Given the description of an element on the screen output the (x, y) to click on. 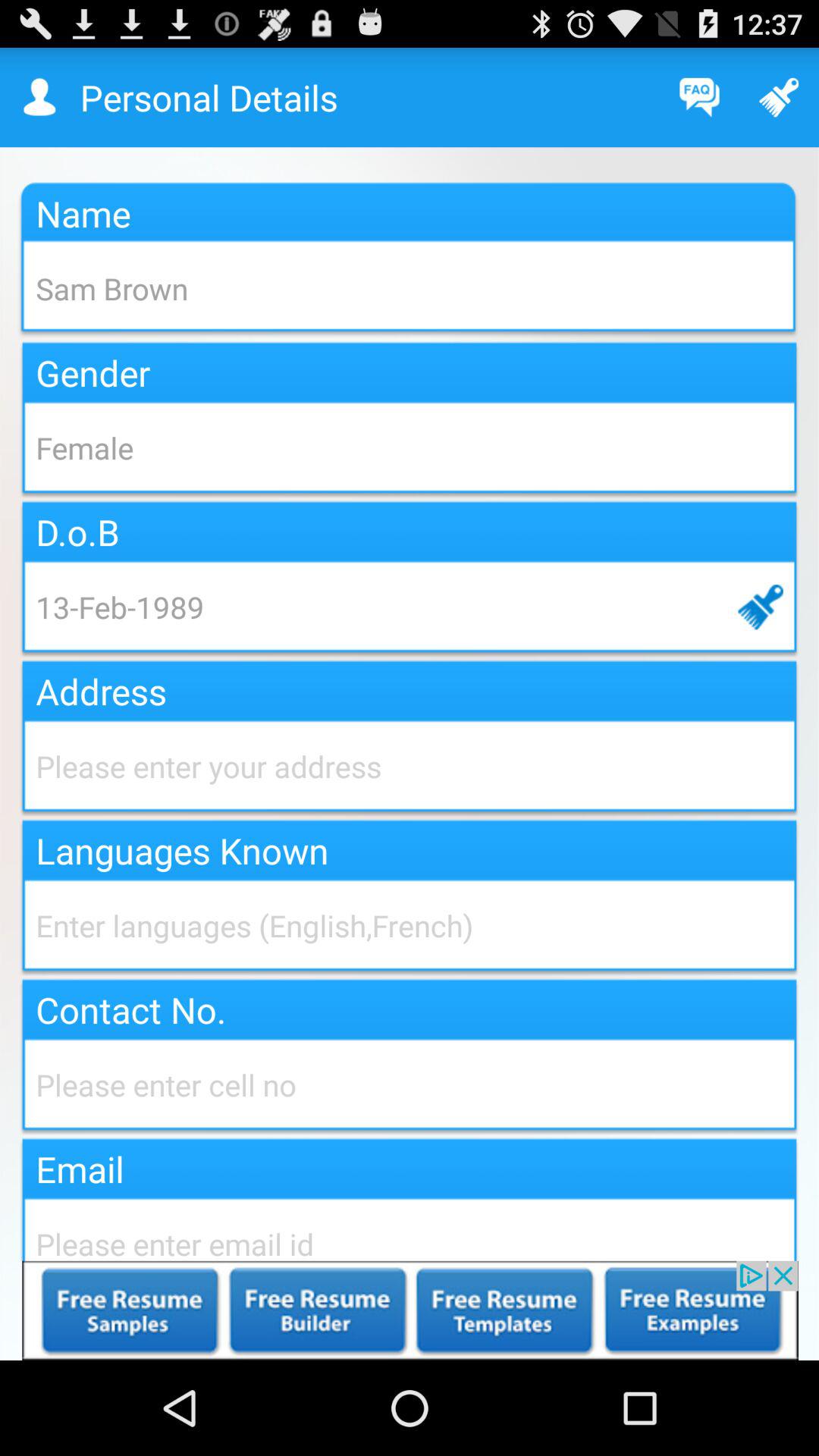
add option (409, 1310)
